Given the description of an element on the screen output the (x, y) to click on. 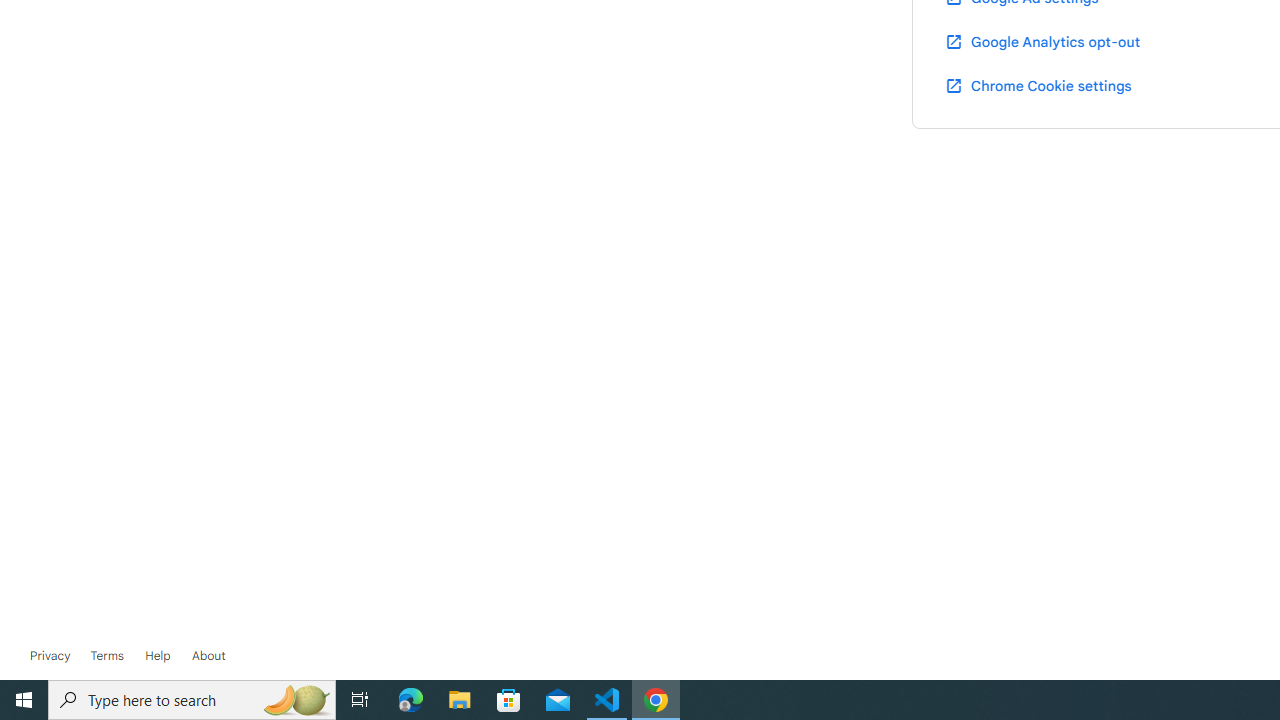
Learn more about Google Account (208, 655)
Help (158, 655)
Chrome Cookie settings (1037, 85)
Privacy (50, 655)
Google Analytics opt-out (1041, 41)
Terms (106, 655)
